Given the description of an element on the screen output the (x, y) to click on. 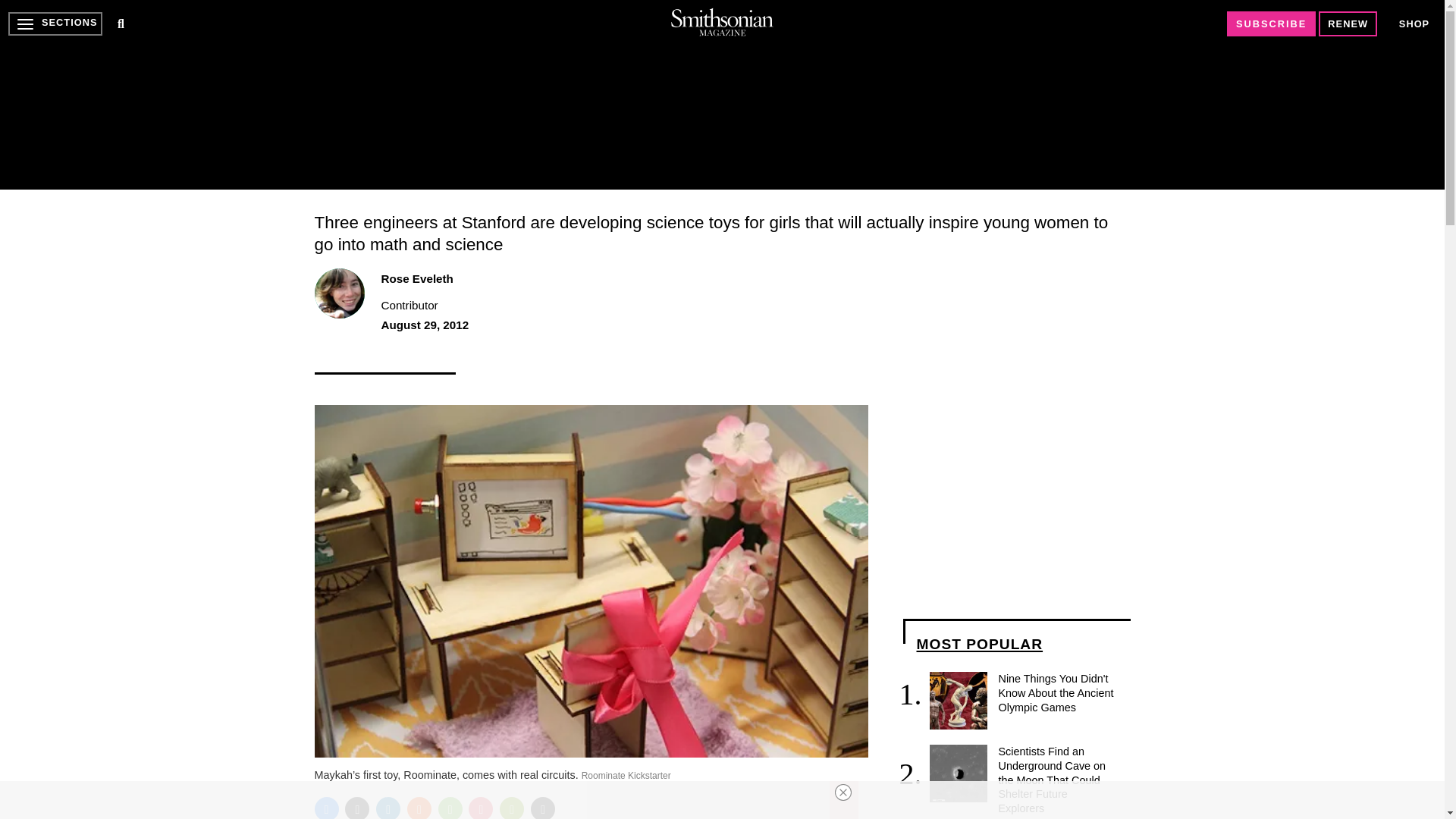
Facebook (325, 807)
WhatsApp (450, 807)
SUBSCRIBE (1271, 23)
SUBSCRIBE (1271, 23)
RENEW (1348, 23)
Print (511, 807)
Twitter (357, 807)
3rd party ad content (721, 94)
SHOP (1414, 23)
SHOP (1413, 23)
Email (542, 807)
3rd party ad content (1015, 499)
LinkedIn (387, 807)
SECTIONS (55, 23)
Pocket (480, 807)
